Given the description of an element on the screen output the (x, y) to click on. 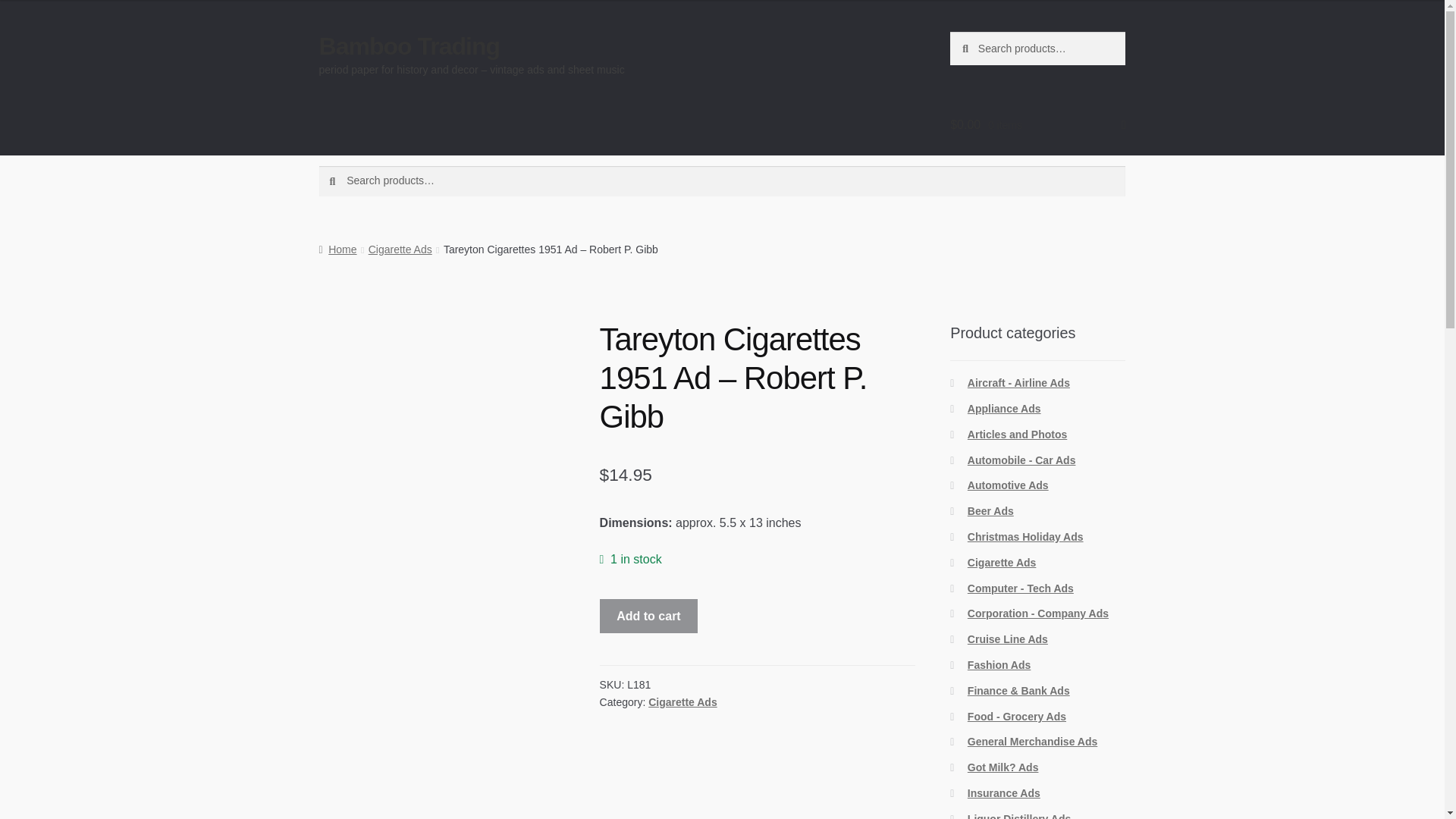
Bamboo Trading (408, 45)
Appliance Ads (1004, 408)
Automotive Ads (1008, 485)
Computer - Tech Ads (1021, 588)
Automobile - Car Ads (1021, 460)
Cigarette Ads (682, 702)
Add to cart (648, 615)
Cigarette Ads (400, 249)
Home (337, 249)
View your shopping cart (1037, 124)
Articles and Photos (1017, 434)
Christmas Holiday Ads (1025, 536)
Aircraft - Airline Ads (1019, 382)
